Given the description of an element on the screen output the (x, y) to click on. 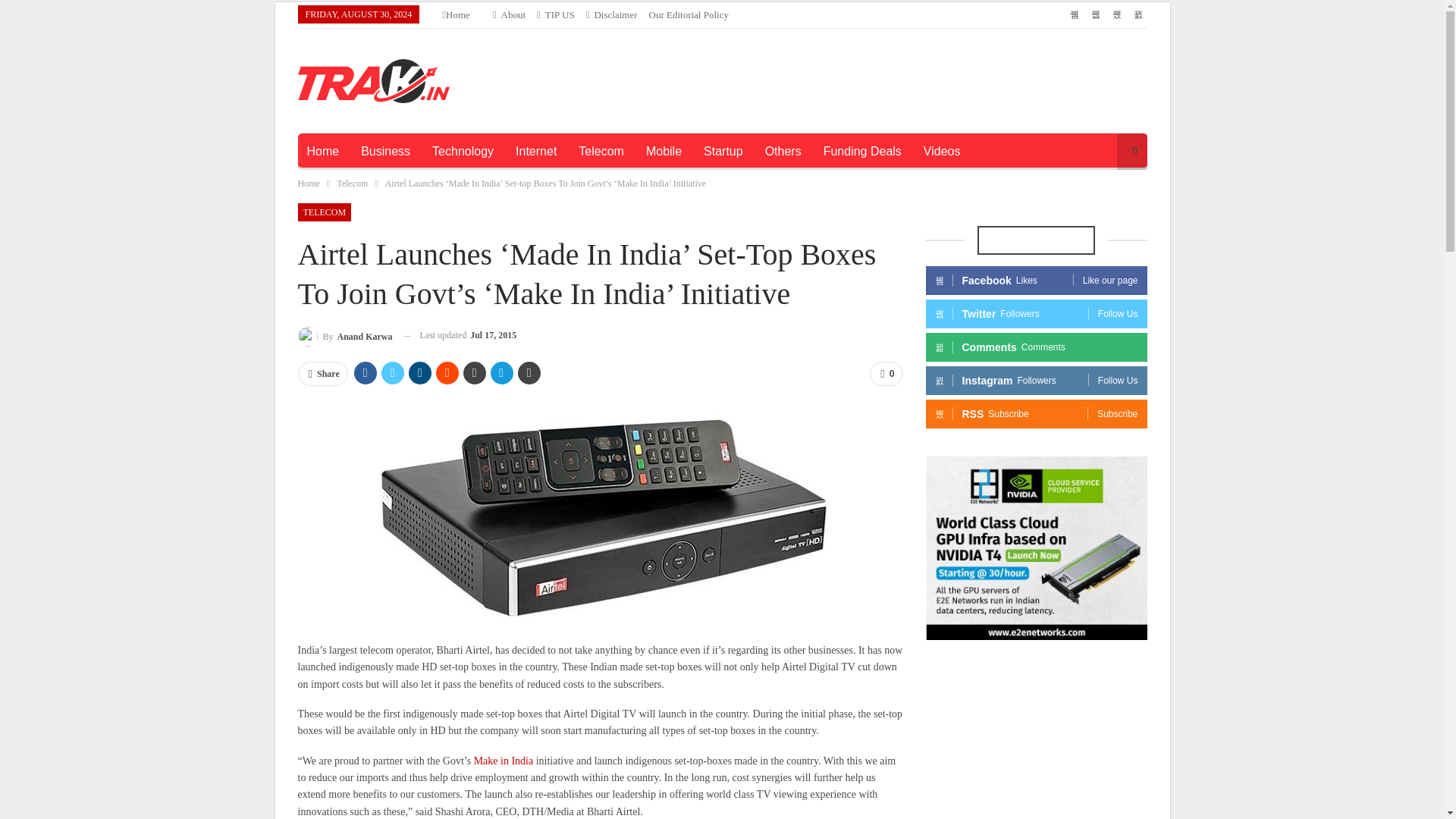
Internet (536, 151)
TIP US (556, 14)
Make in India (504, 760)
Business (385, 151)
Technology (462, 151)
By Anand Karwa (344, 335)
Make in India (504, 760)
Our Editorial Policy (689, 14)
Disclaimer (611, 14)
Disclaimer (611, 14)
